Given the description of an element on the screen output the (x, y) to click on. 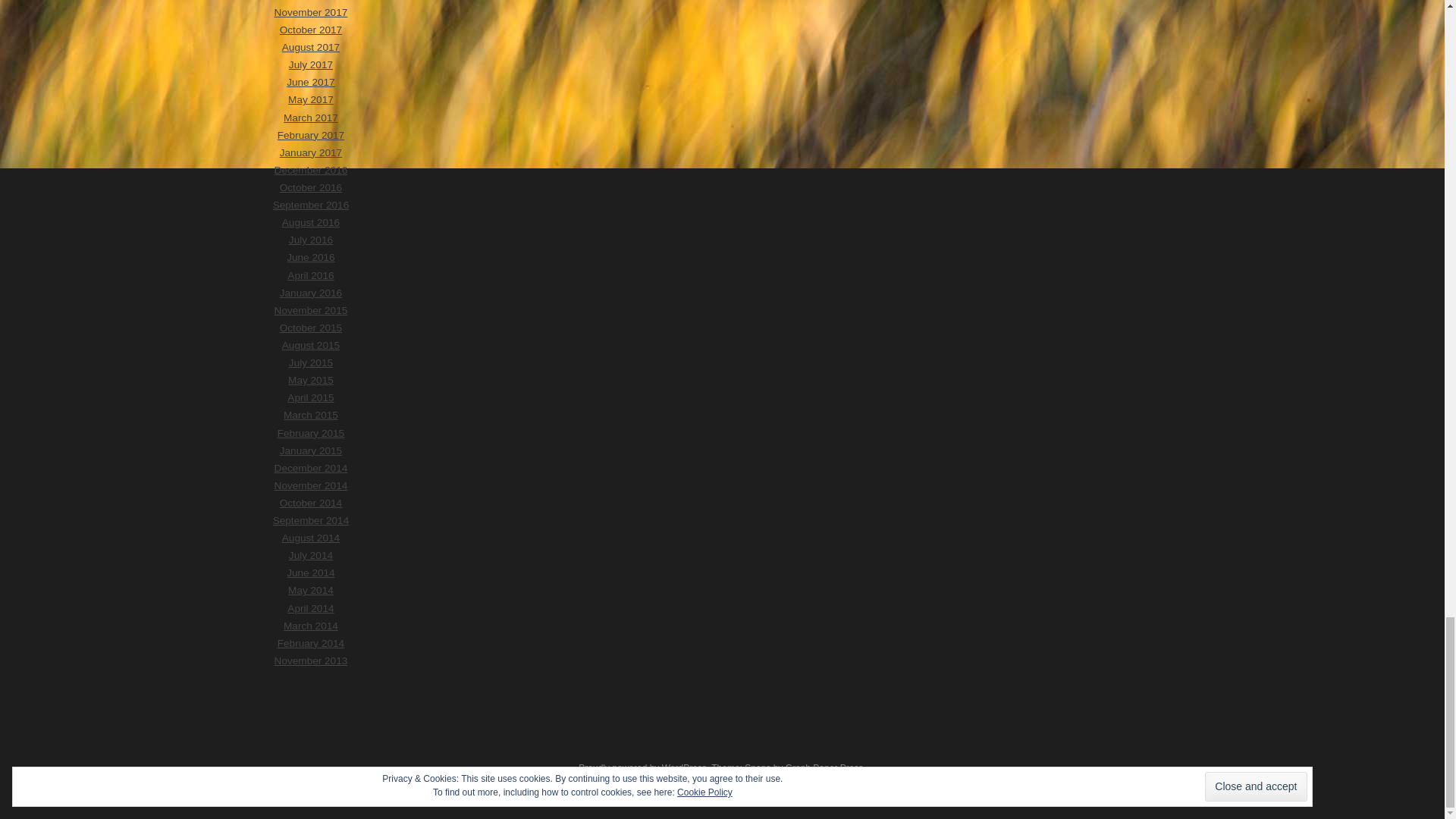
A Semantic Personal Publishing Platform (642, 767)
